Given the description of an element on the screen output the (x, y) to click on. 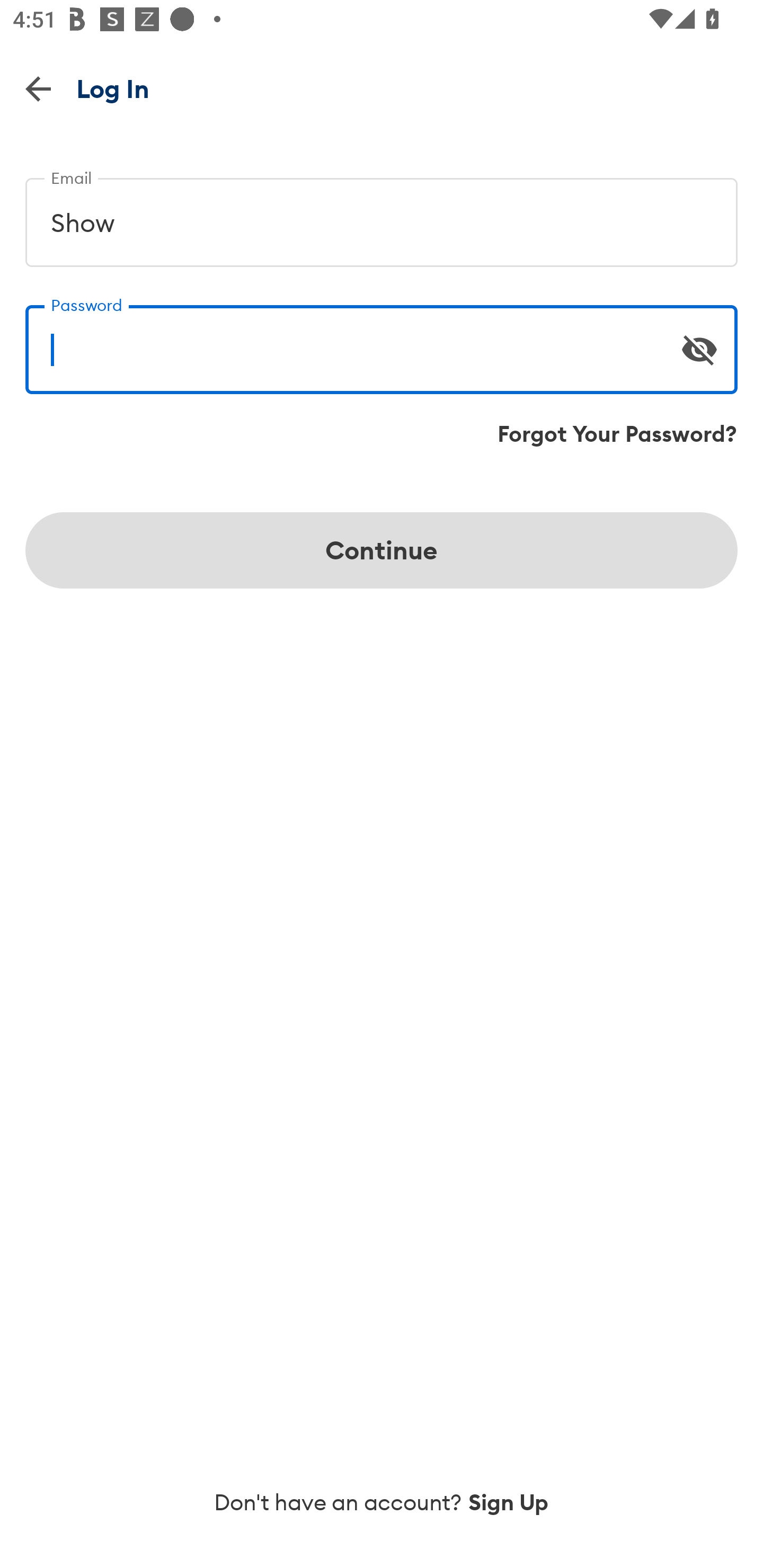
Back (38, 88)
Show Email (381, 215)
Password (381, 342)
Forgot Your Password? (617, 433)
Continue (381, 550)
Sign Up (508, 1502)
